Given the description of an element on the screen output the (x, y) to click on. 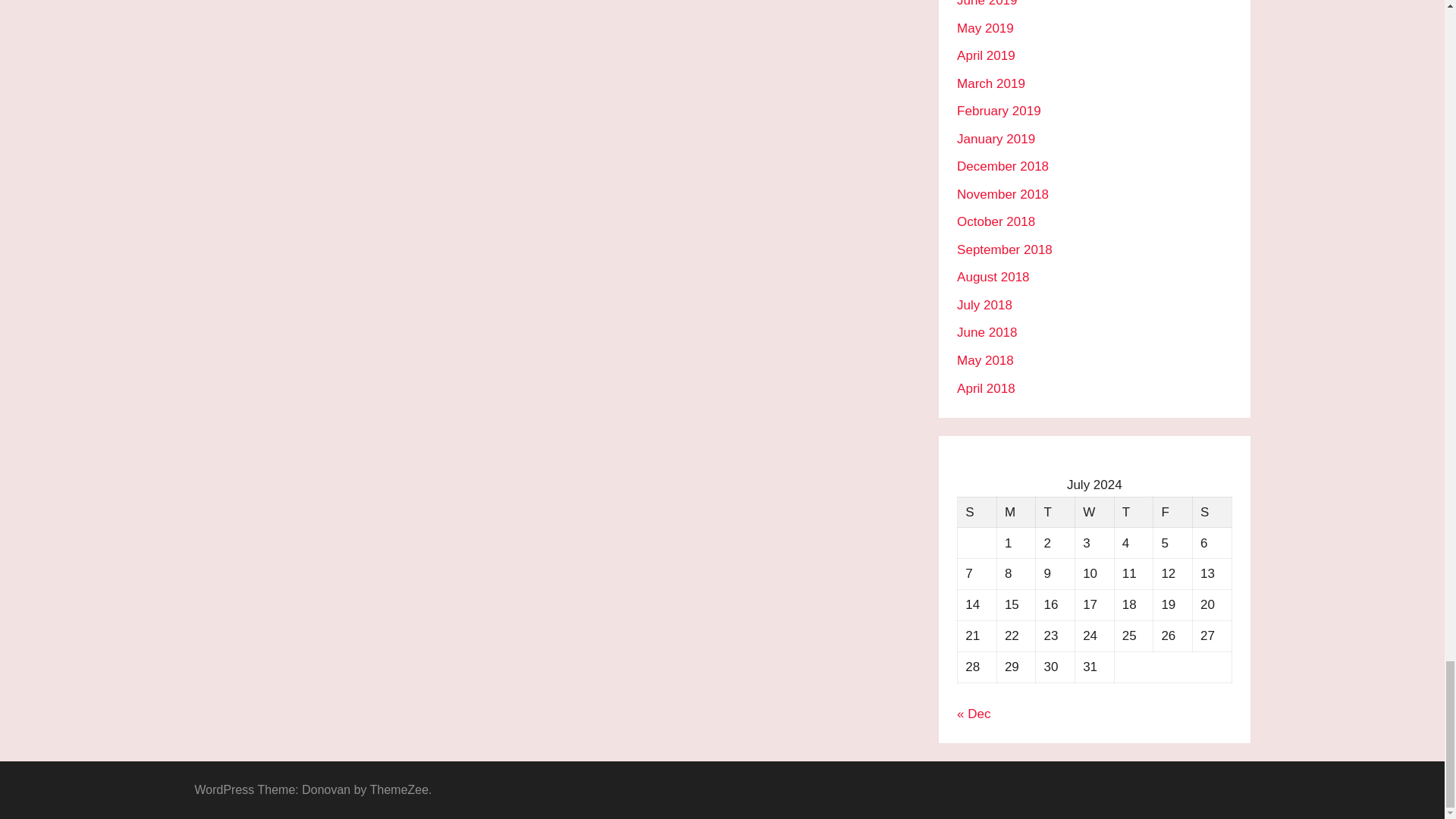
Thursday (1133, 511)
Monday (1015, 511)
Saturday (1211, 511)
Tuesday (1055, 511)
Wednesday (1093, 511)
Sunday (977, 511)
Friday (1172, 511)
